Given the description of an element on the screen output the (x, y) to click on. 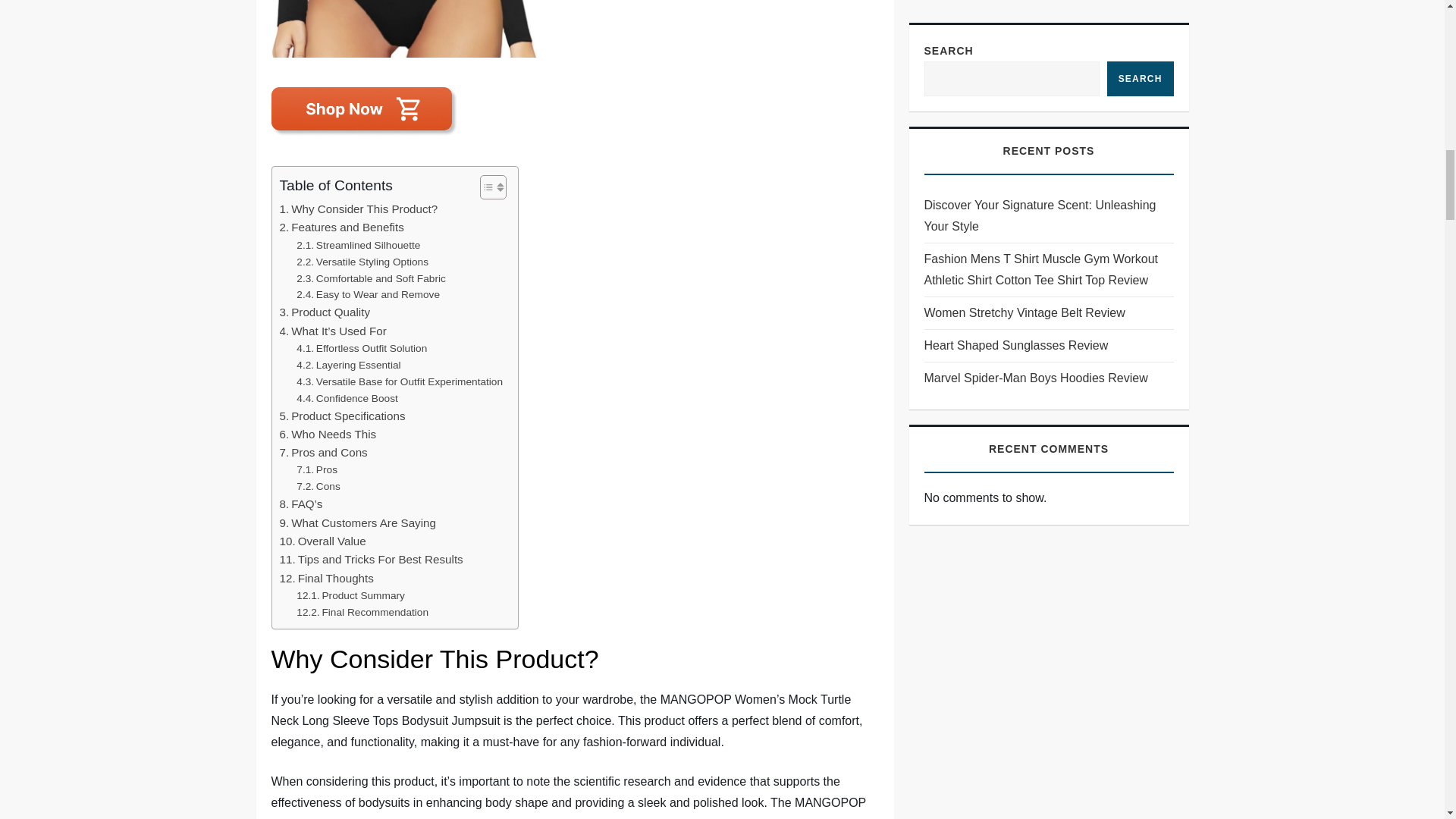
Who Needs This (327, 434)
Effortless Outfit Solution (361, 348)
Pros (317, 469)
Product Specifications (341, 416)
Versatile Base for Outfit Experimentation (399, 381)
Streamlined Silhouette (358, 245)
Confidence Boost (347, 398)
Cons (318, 486)
Versatile Styling Options (362, 262)
